Given the description of an element on the screen output the (x, y) to click on. 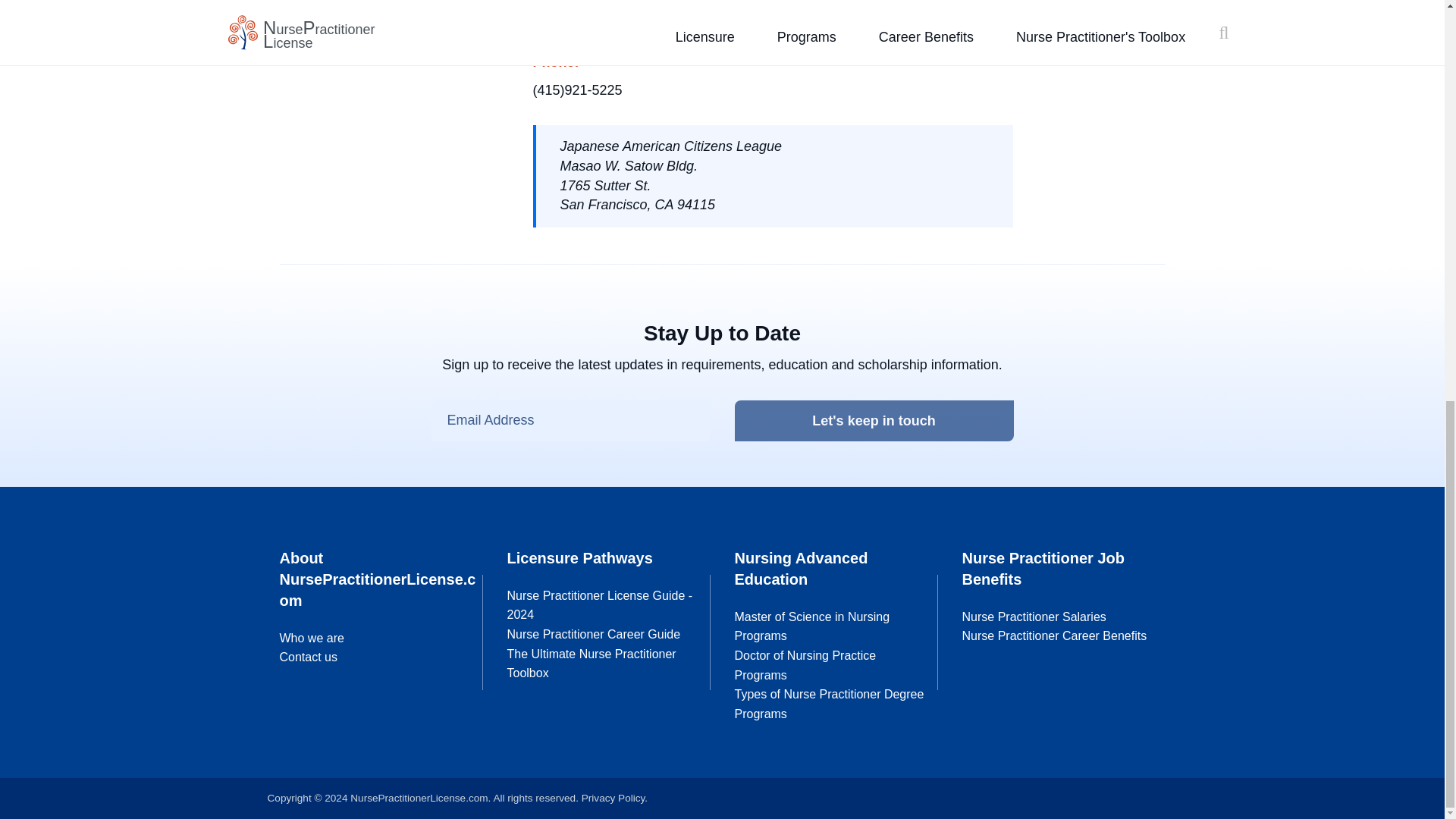
Let's keep in touch (873, 421)
The Ultimate Nurse Practitioner Toolbox (590, 663)
Nurse Practitioner Career Guide (592, 634)
Nurse Practitioner Salaries (1032, 616)
Let's keep in touch (873, 421)
Contact us (307, 656)
Nurse Practitioner Career Benefits (1053, 635)
Nurse Practitioner License Guide - 2024 (599, 604)
Privacy Policy (612, 797)
Master of Science in Nursing Programs (811, 626)
